Given the description of an element on the screen output the (x, y) to click on. 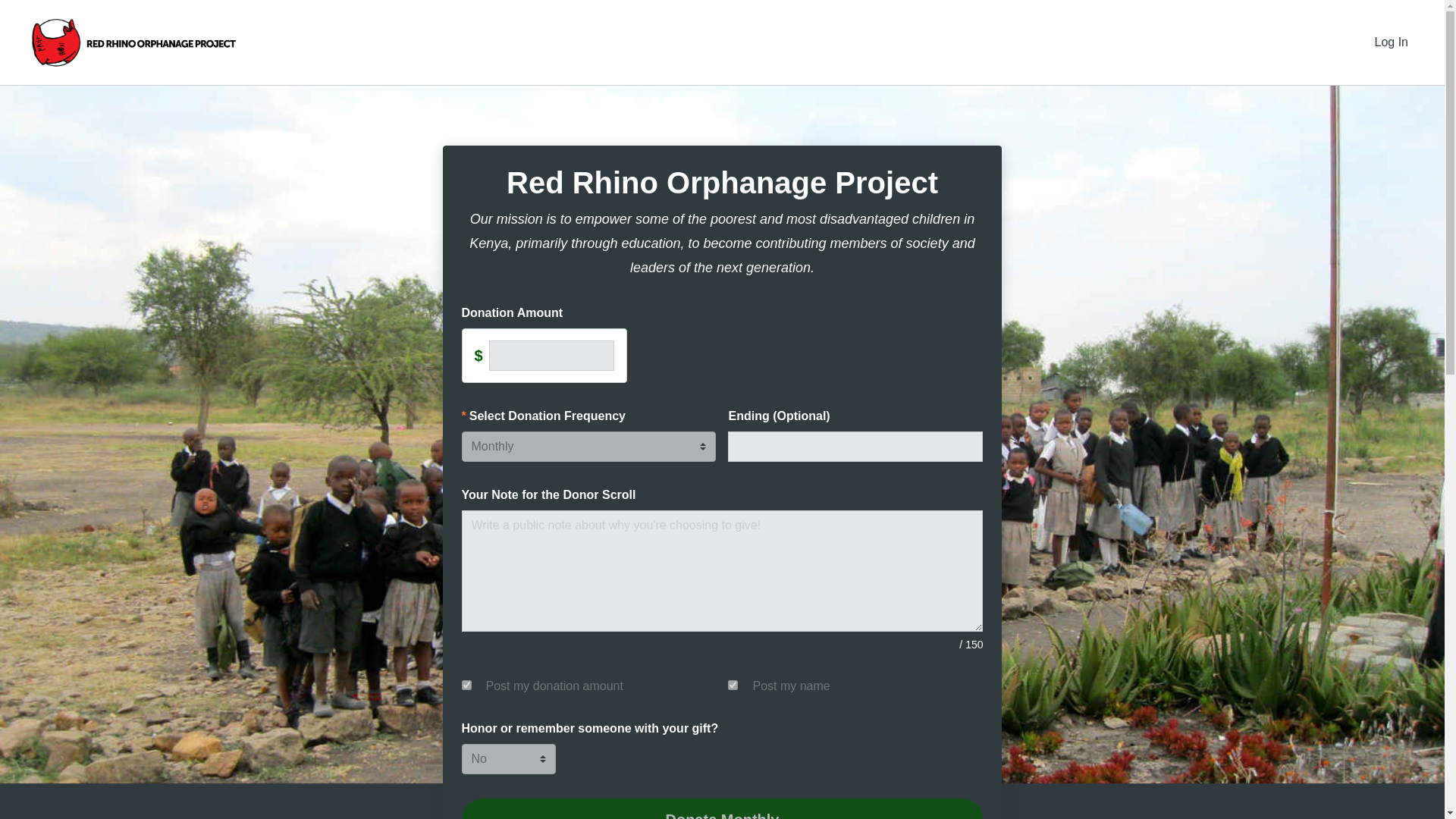
Log In (1391, 42)
1 (465, 685)
1 (733, 685)
Donate Monthly (721, 808)
Custom Donation Amount (551, 355)
